Given the description of an element on the screen output the (x, y) to click on. 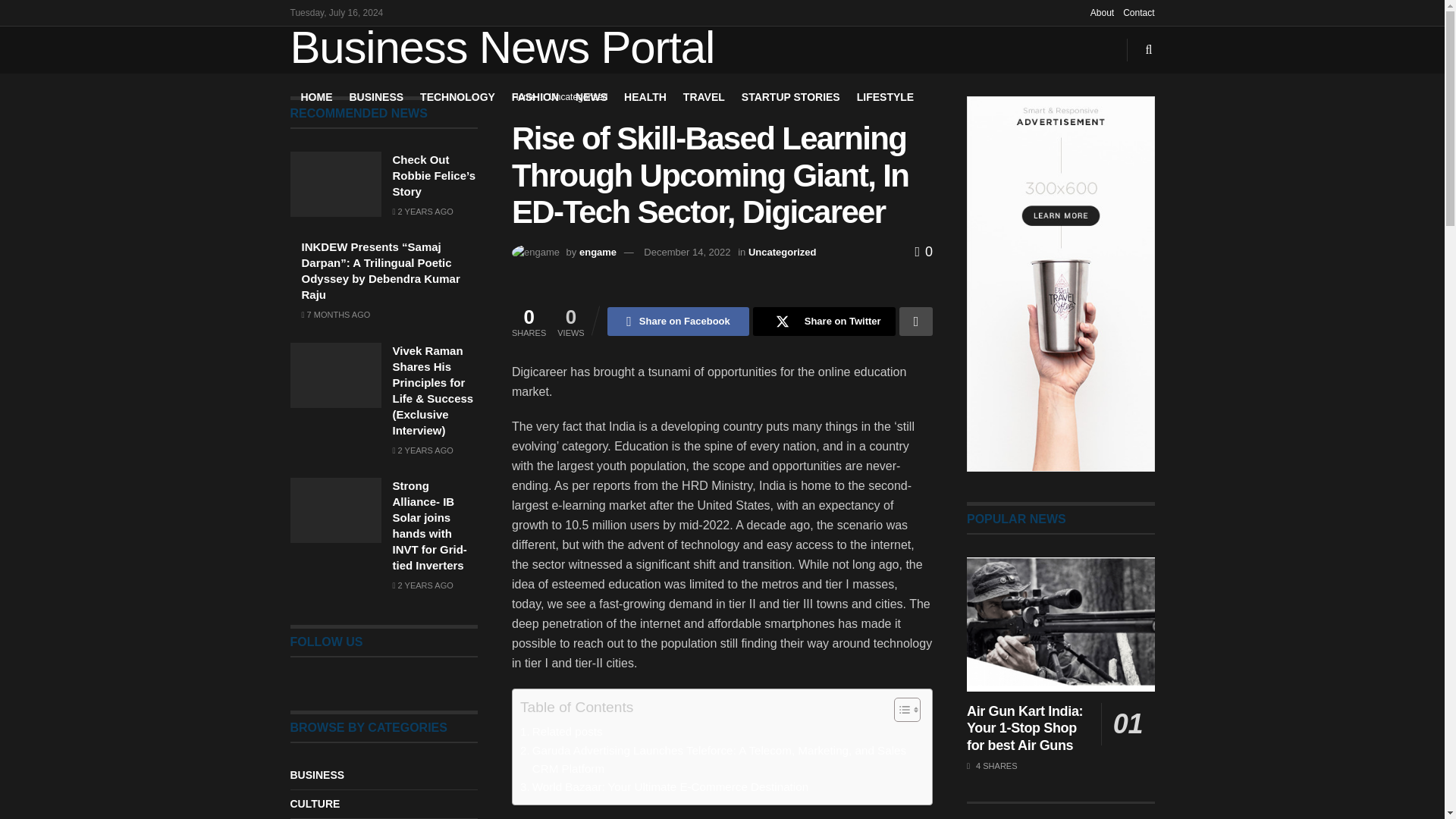
Uncategorized (577, 96)
World Bazaar: Your Ultimate E-Commerce Destination (663, 787)
0 (923, 251)
Uncategorized (782, 251)
BUSINESS (376, 96)
Contact (1138, 12)
Share on Twitter (823, 321)
HEALTH (645, 96)
STARTUP STORIES (790, 96)
LIFESTYLE (885, 96)
Home (523, 96)
December 14, 2022 (686, 251)
